Given the description of an element on the screen output the (x, y) to click on. 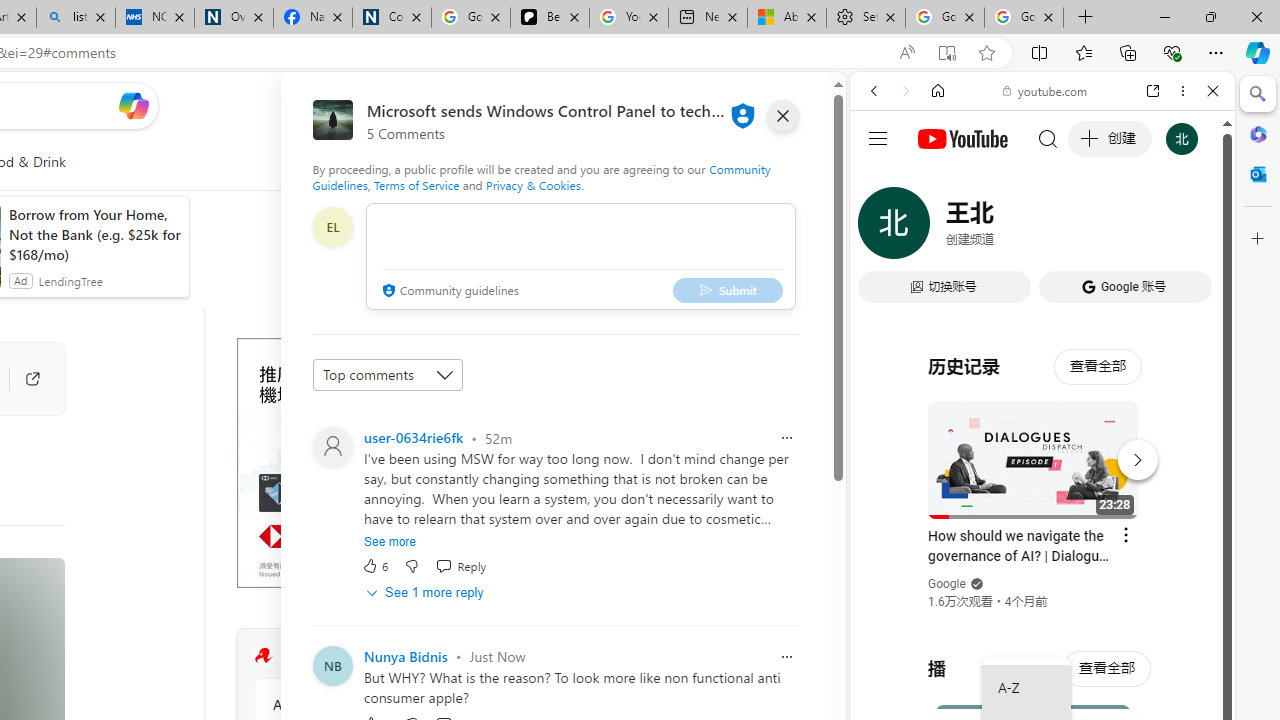
close (782, 115)
Search Filter, Search Tools (1093, 228)
Reply Reply Comment (461, 565)
Open settings (786, 105)
NCL Adult Asthma Inhaler Choice Guideline (155, 17)
Sort comments by (388, 374)
